Given the description of an element on the screen output the (x, y) to click on. 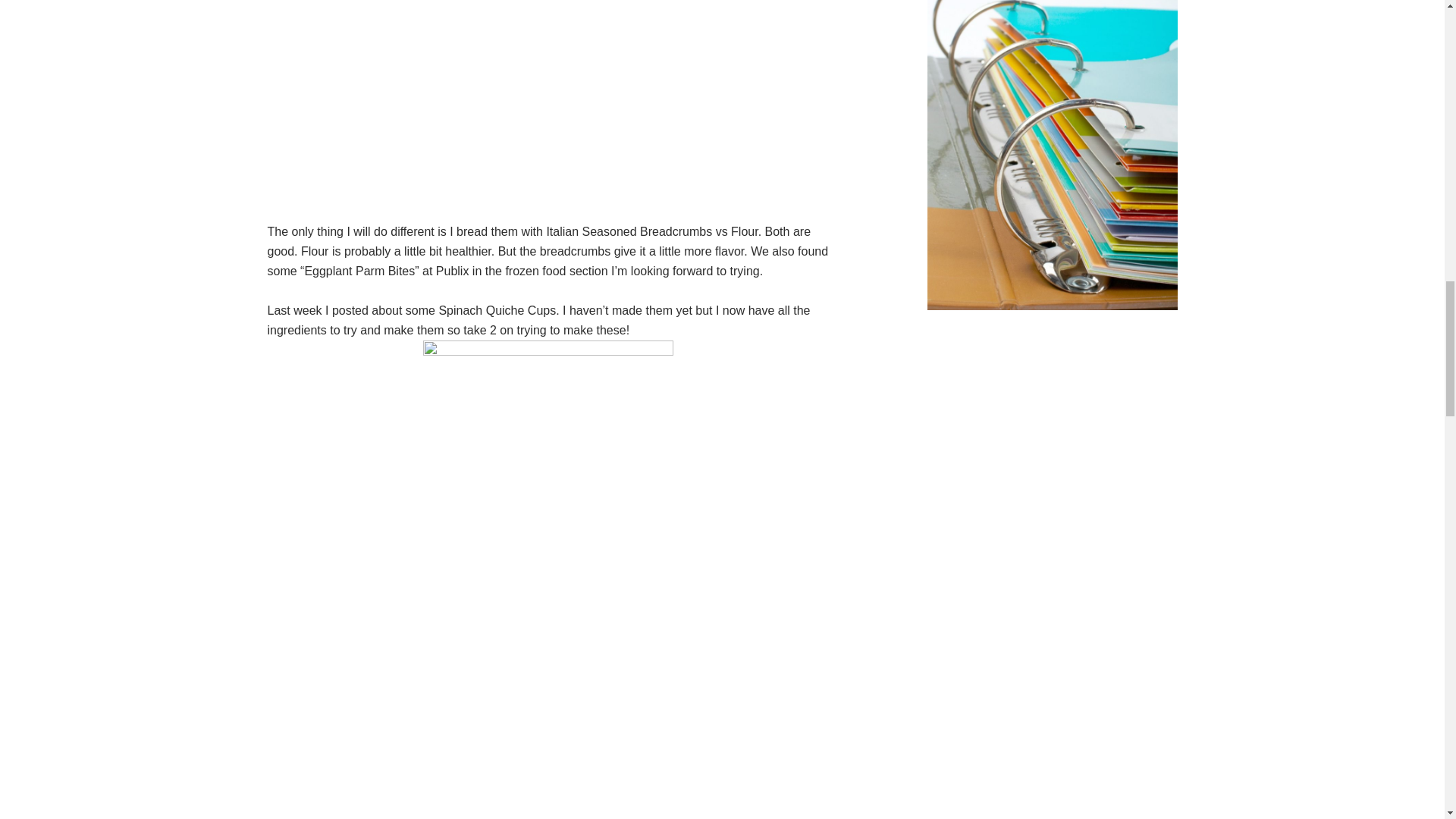
Blogger Conference (1051, 306)
